Given the description of an element on the screen output the (x, y) to click on. 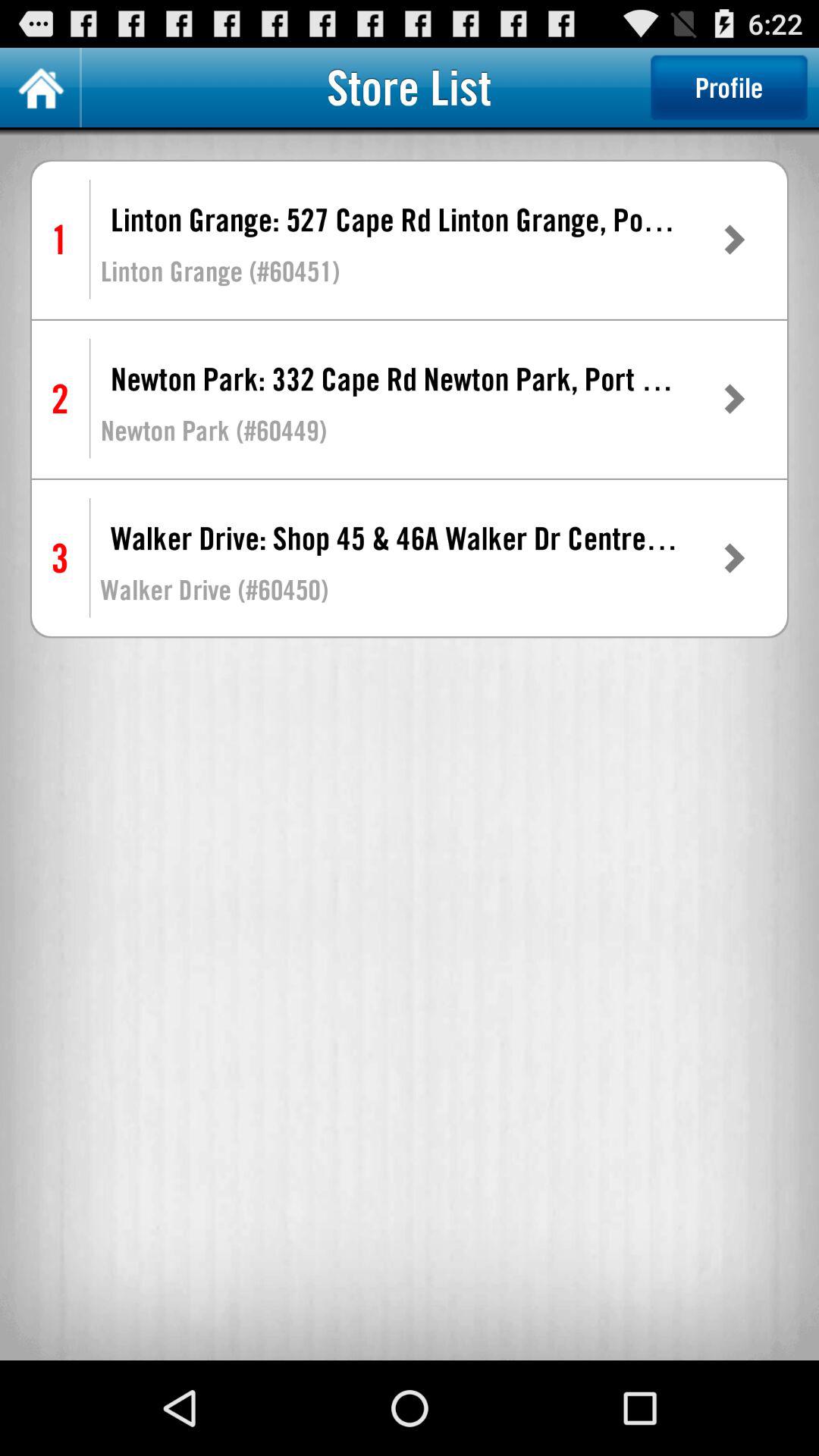
jump to the profile (728, 87)
